Given the description of an element on the screen output the (x, y) to click on. 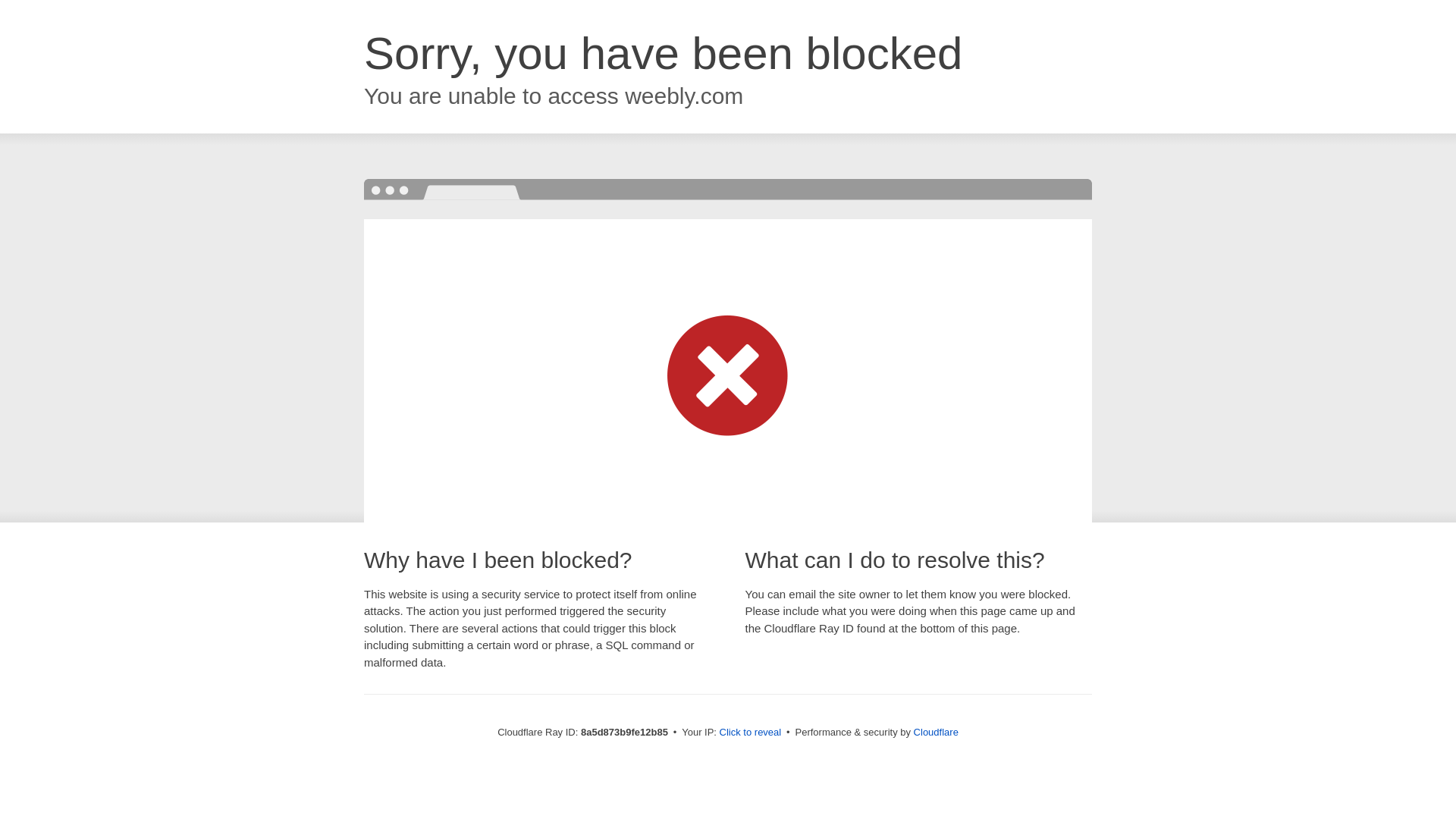
Click to reveal (750, 732)
Cloudflare (936, 731)
